Given the description of an element on the screen output the (x, y) to click on. 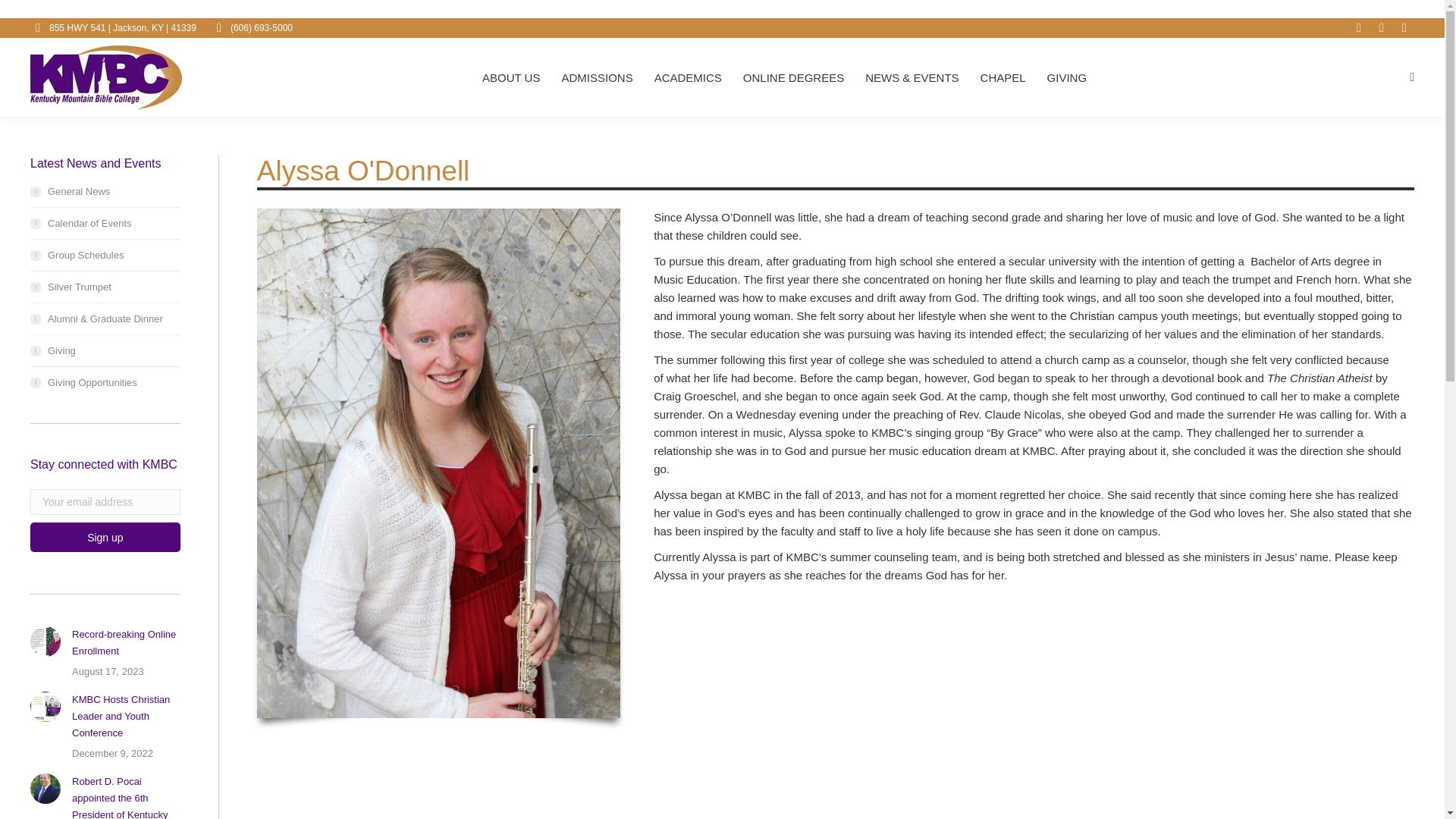
Sign up (105, 537)
ADMISSIONS (595, 76)
Website page opens in new window (1381, 27)
Website page opens in new window (1381, 27)
YouTube page opens in new window (1358, 27)
Facebook page opens in new window (1403, 27)
YouTube page opens in new window (1358, 27)
ONLINE DEGREES (793, 76)
ABOUT US (510, 76)
ACADEMICS (687, 76)
Facebook page opens in new window (1403, 27)
